Given the description of an element on the screen output the (x, y) to click on. 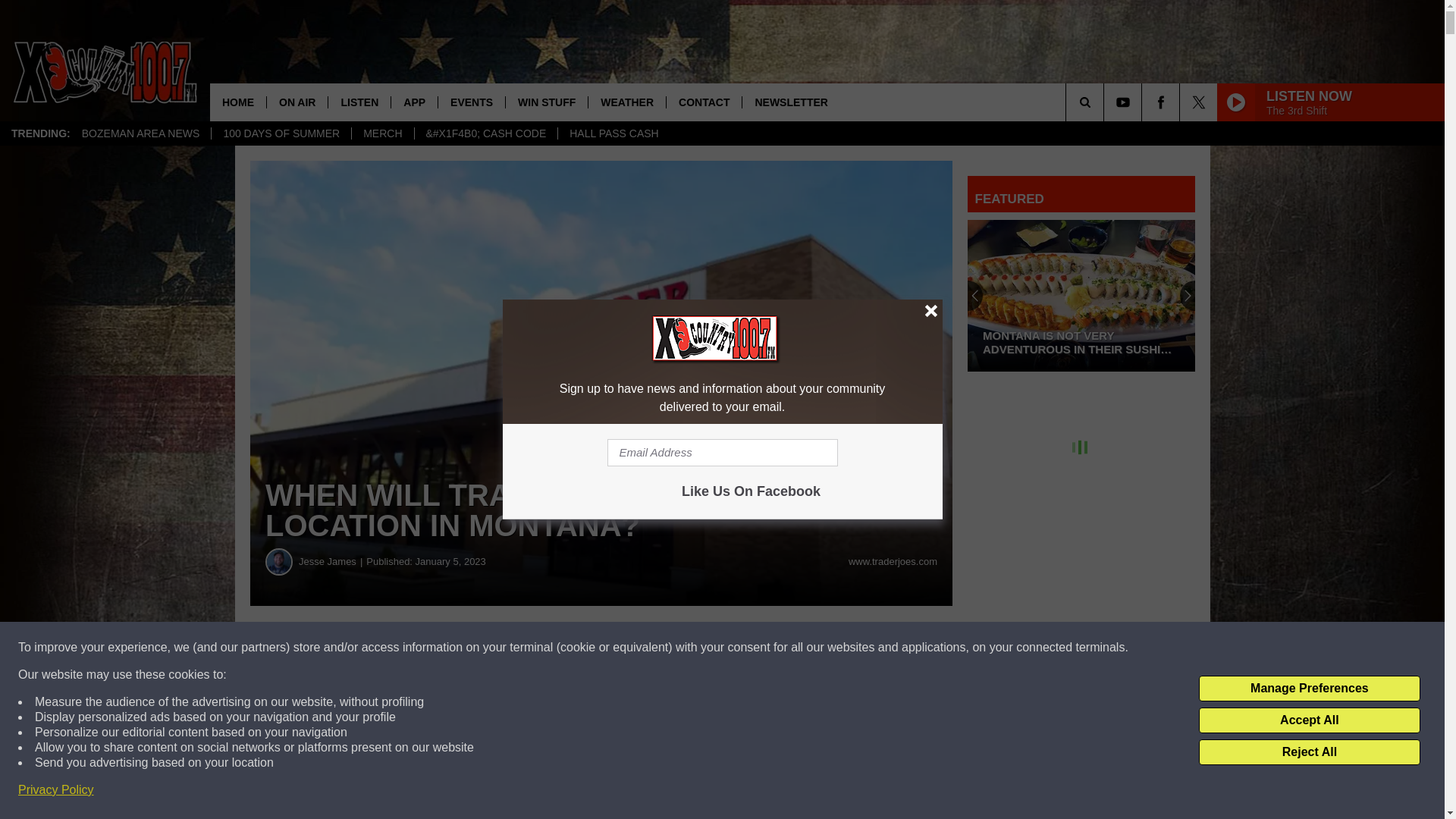
SEARCH (1106, 102)
MERCH (381, 133)
Reject All (1309, 751)
EVENTS (471, 102)
LISTEN (358, 102)
100 DAYS OF SUMMER (280, 133)
Share on Facebook (460, 647)
Manage Preferences (1309, 688)
ON AIR (296, 102)
Share on Twitter (741, 647)
APP (414, 102)
WEATHER (626, 102)
WIN STUFF (546, 102)
HOME (237, 102)
BOZEMAN AREA NEWS (140, 133)
